Given the description of an element on the screen output the (x, y) to click on. 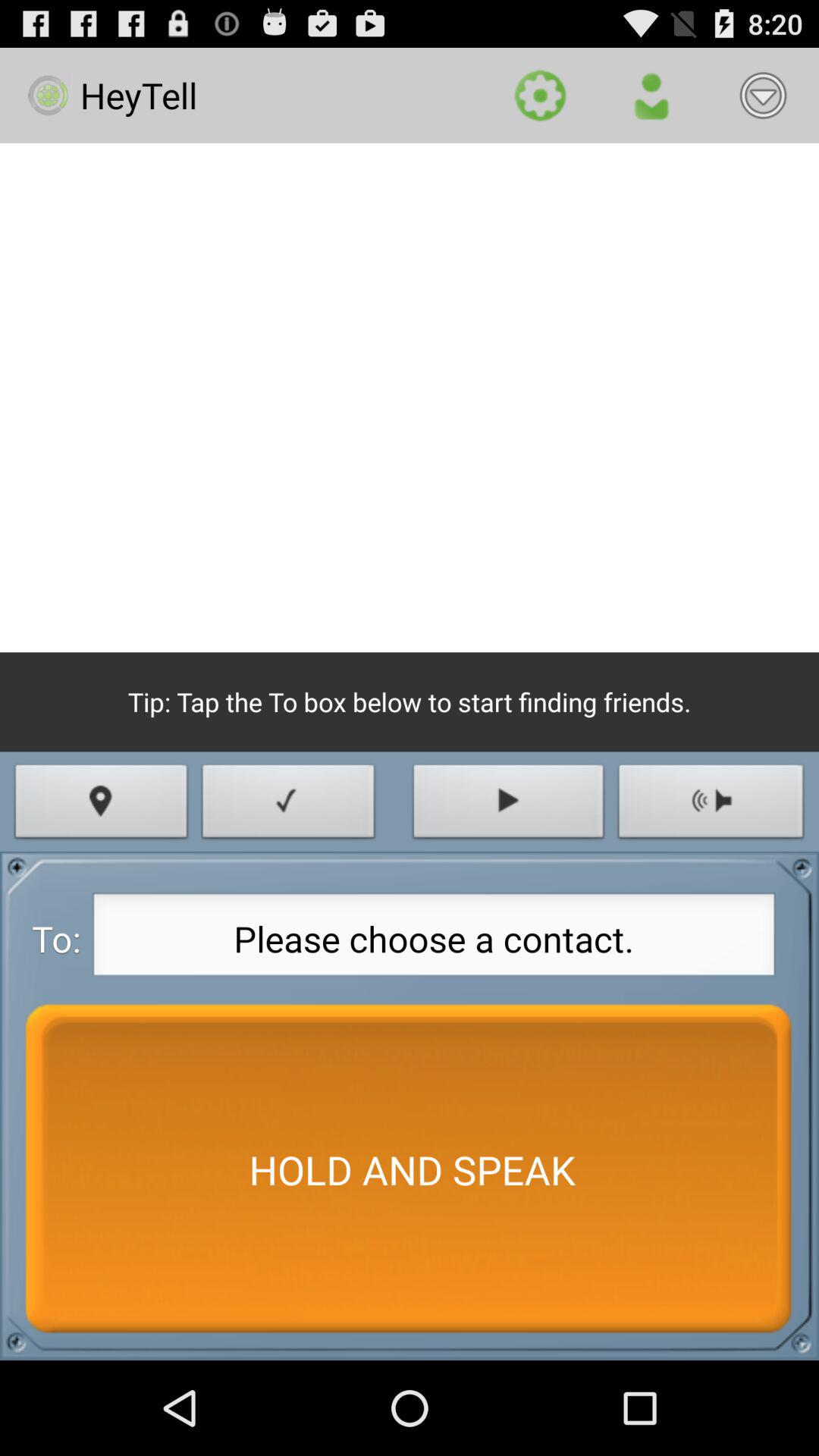
select app above please choose a icon (288, 805)
